Given the description of an element on the screen output the (x, y) to click on. 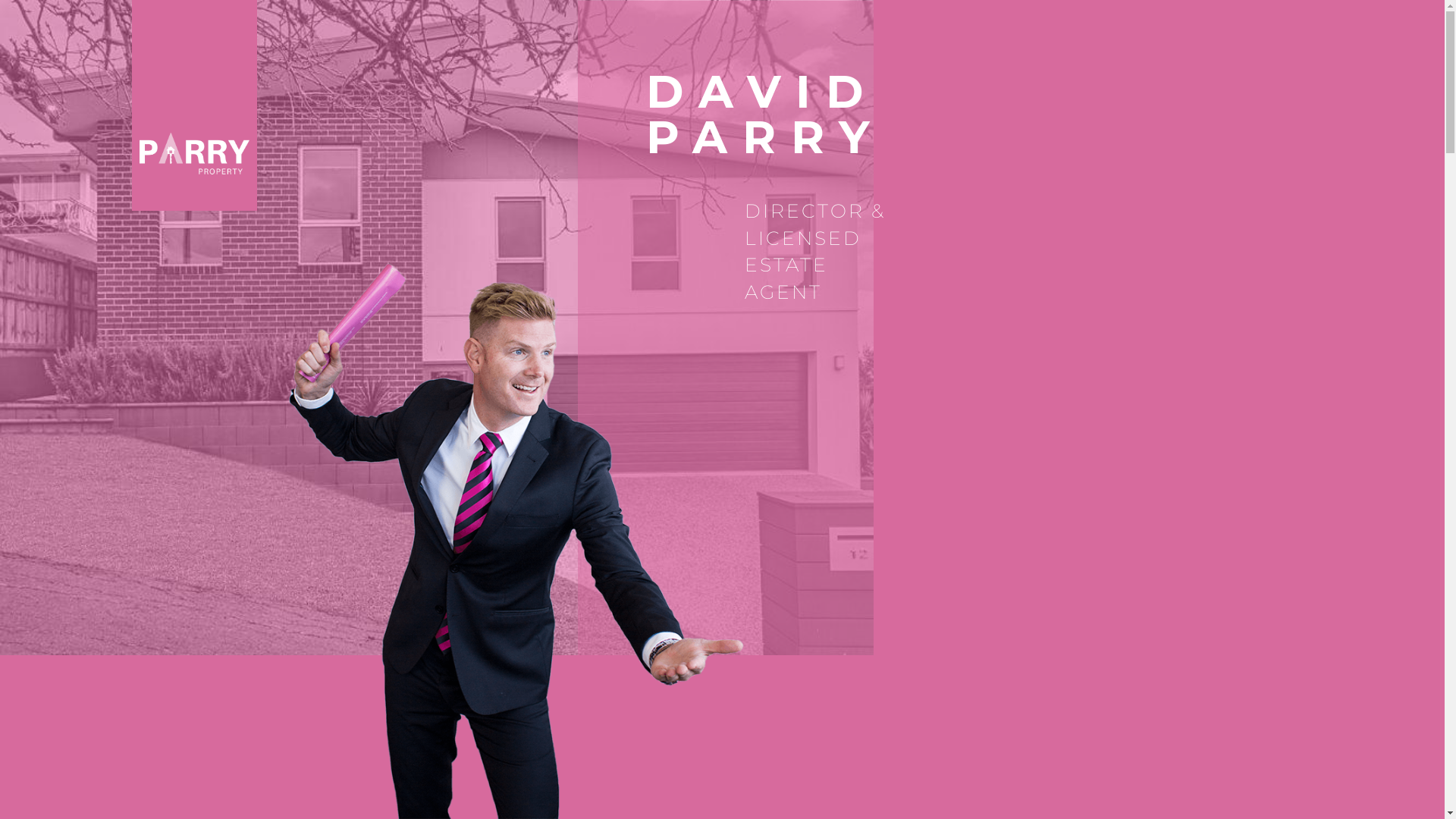
Welcome Element type: hover (1357, 359)
Welcome Element type: hover (1357, 404)
Welcome Element type: hover (1357, 381)
Welcome Element type: hover (1357, 450)
Welcome Element type: hover (1357, 427)
Welcome Element type: hover (1357, 472)
Welcome Element type: hover (1357, 336)
Welcome Element type: hover (1357, 495)
